Given the description of an element on the screen output the (x, y) to click on. 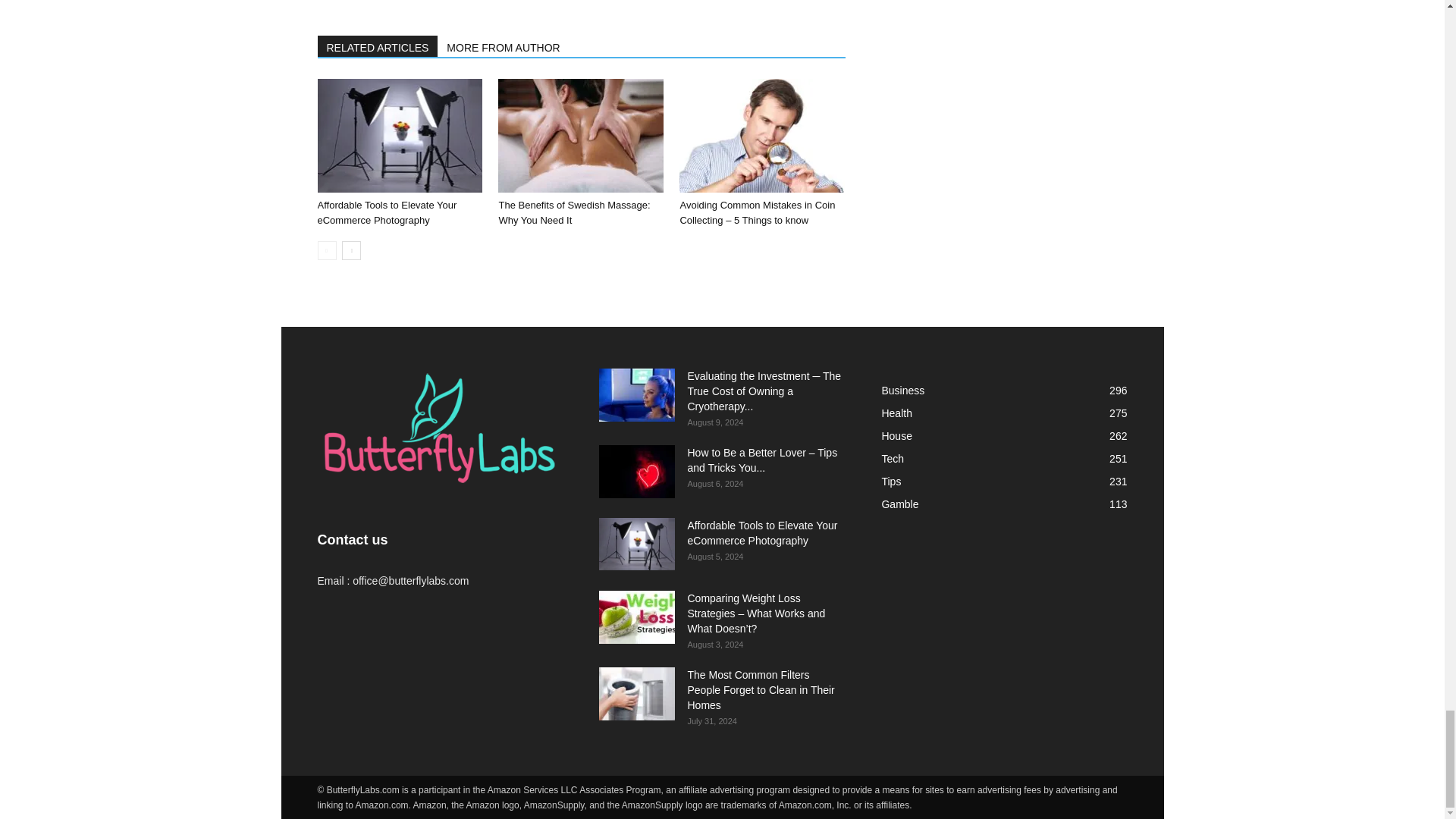
The Benefits of Swedish Massage: Why You Need It (580, 135)
The Benefits of Swedish Massage: Why You Need It (573, 212)
Affordable Tools to Elevate Your eCommerce Photography (399, 135)
Affordable Tools to Elevate Your eCommerce Photography (387, 212)
